Given the description of an element on the screen output the (x, y) to click on. 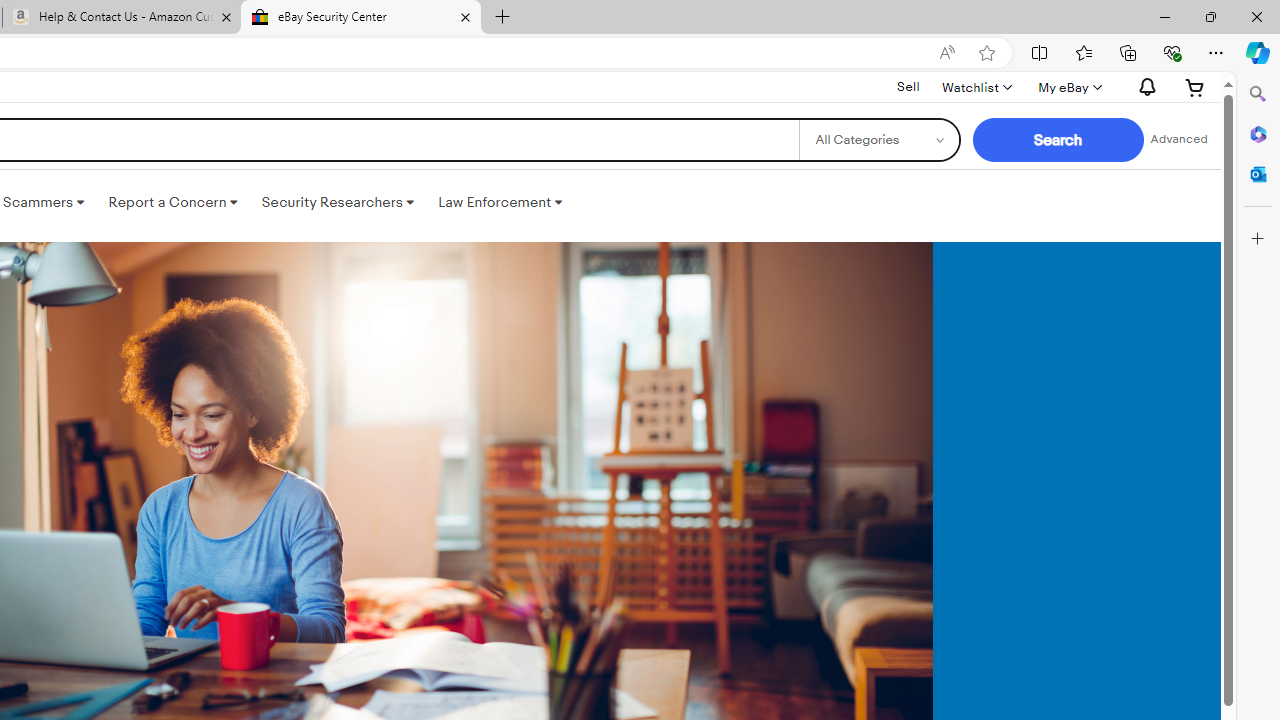
My eBayExpand My eBay (1068, 87)
eBay Security Center (360, 17)
My eBay (1068, 87)
Select a category for search (877, 139)
Report a Concern  (173, 202)
Watchlist (975, 87)
Law Enforcement  (500, 202)
